Given the description of an element on the screen output the (x, y) to click on. 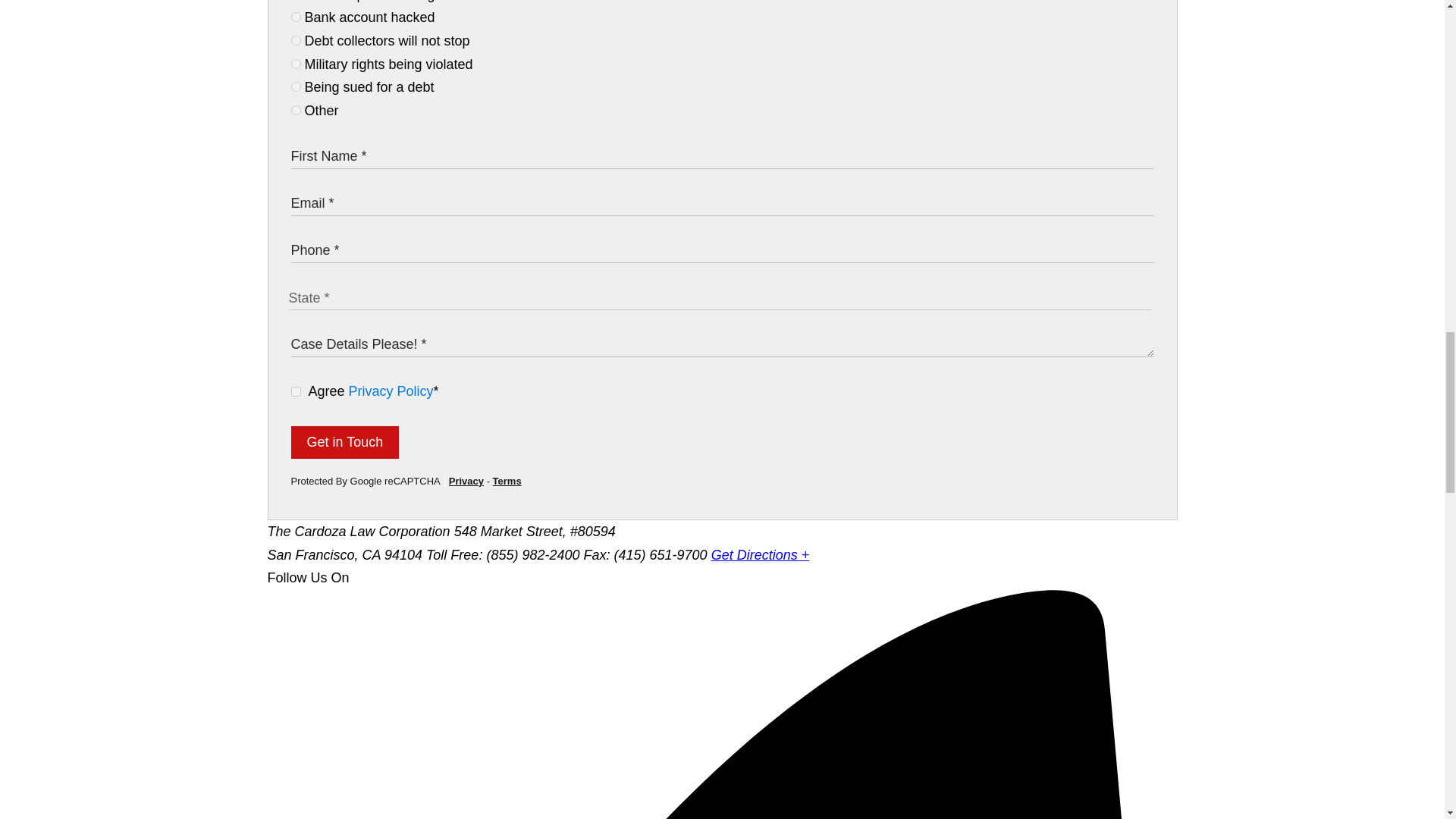
Military rights being violated (296, 63)
Other (296, 110)
Bank account hacked (296, 17)
Being sued for a debt (296, 86)
Debt collectors will not stop (296, 40)
